Given the description of an element on the screen output the (x, y) to click on. 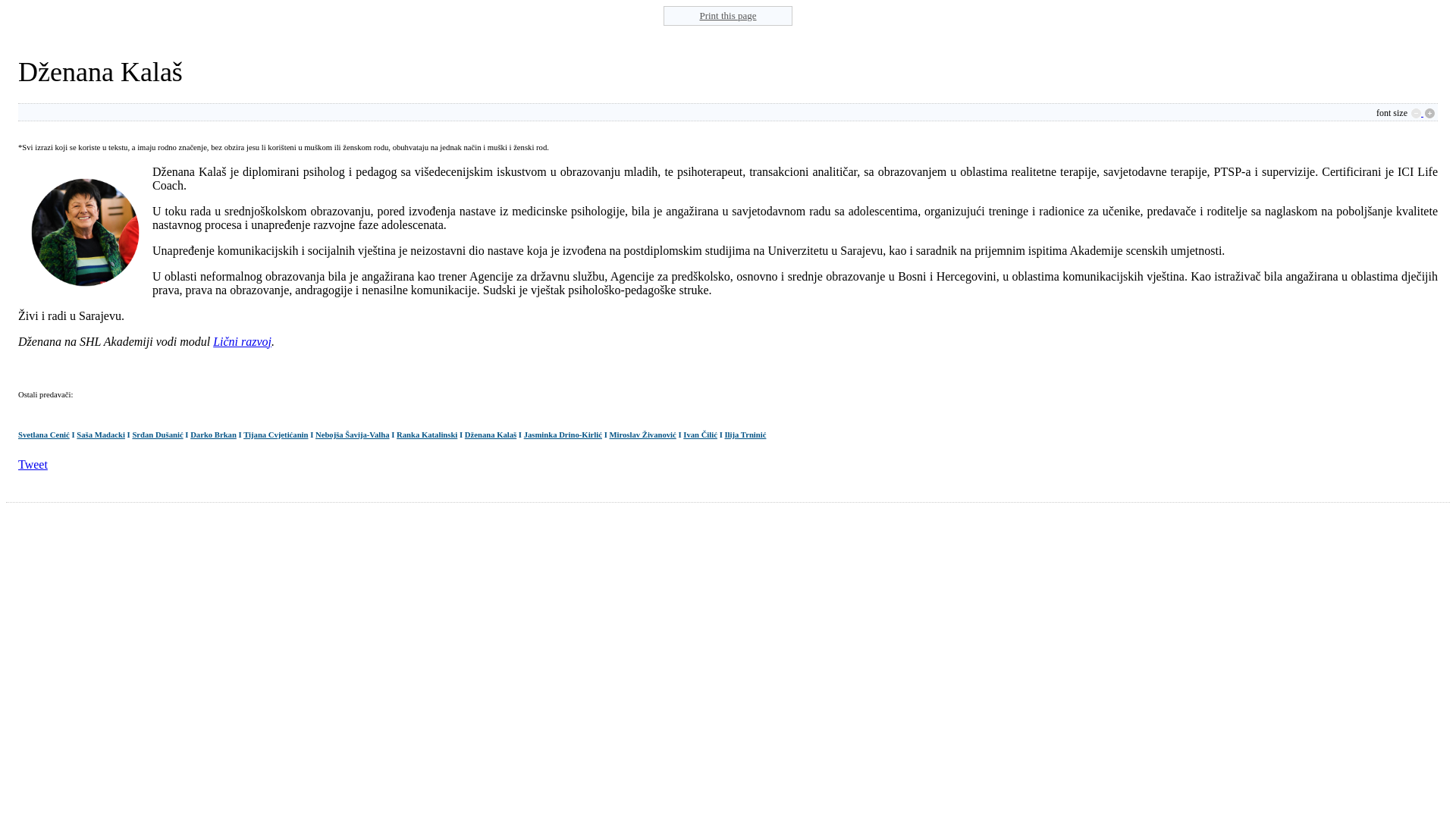
Print this page Element type: text (727, 15)
Ranka Katalinski Element type: text (426, 434)
Darko Brkan Element type: text (213, 434)
Tweet Element type: text (32, 464)
